Given the description of an element on the screen output the (x, y) to click on. 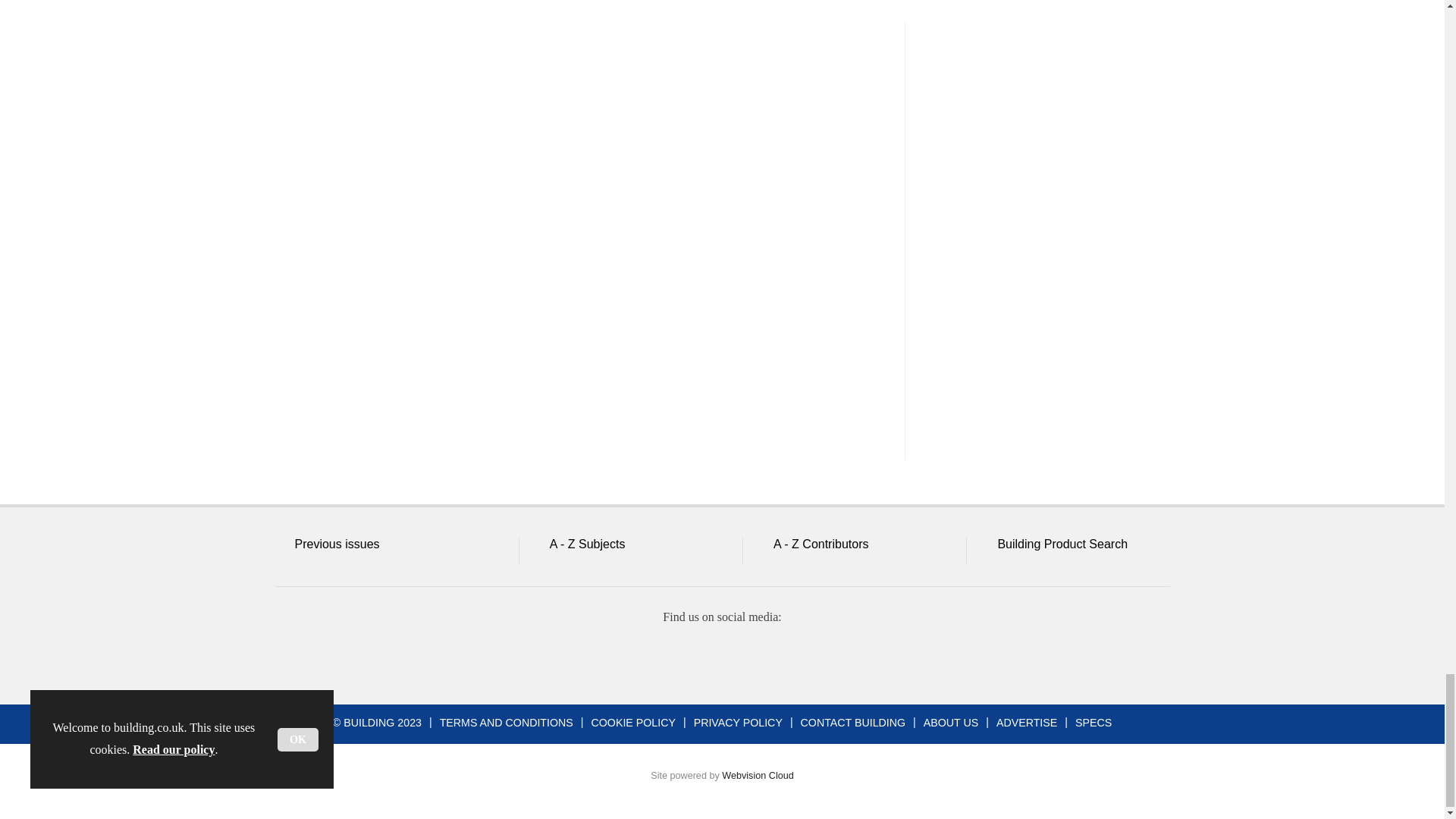
Email us (776, 658)
Connect with us on Linked in (721, 658)
Connect with us on Twitter (667, 658)
Connect with us on Pinterest (830, 658)
Connect with us on Facebook (611, 658)
